Given the description of an element on the screen output the (x, y) to click on. 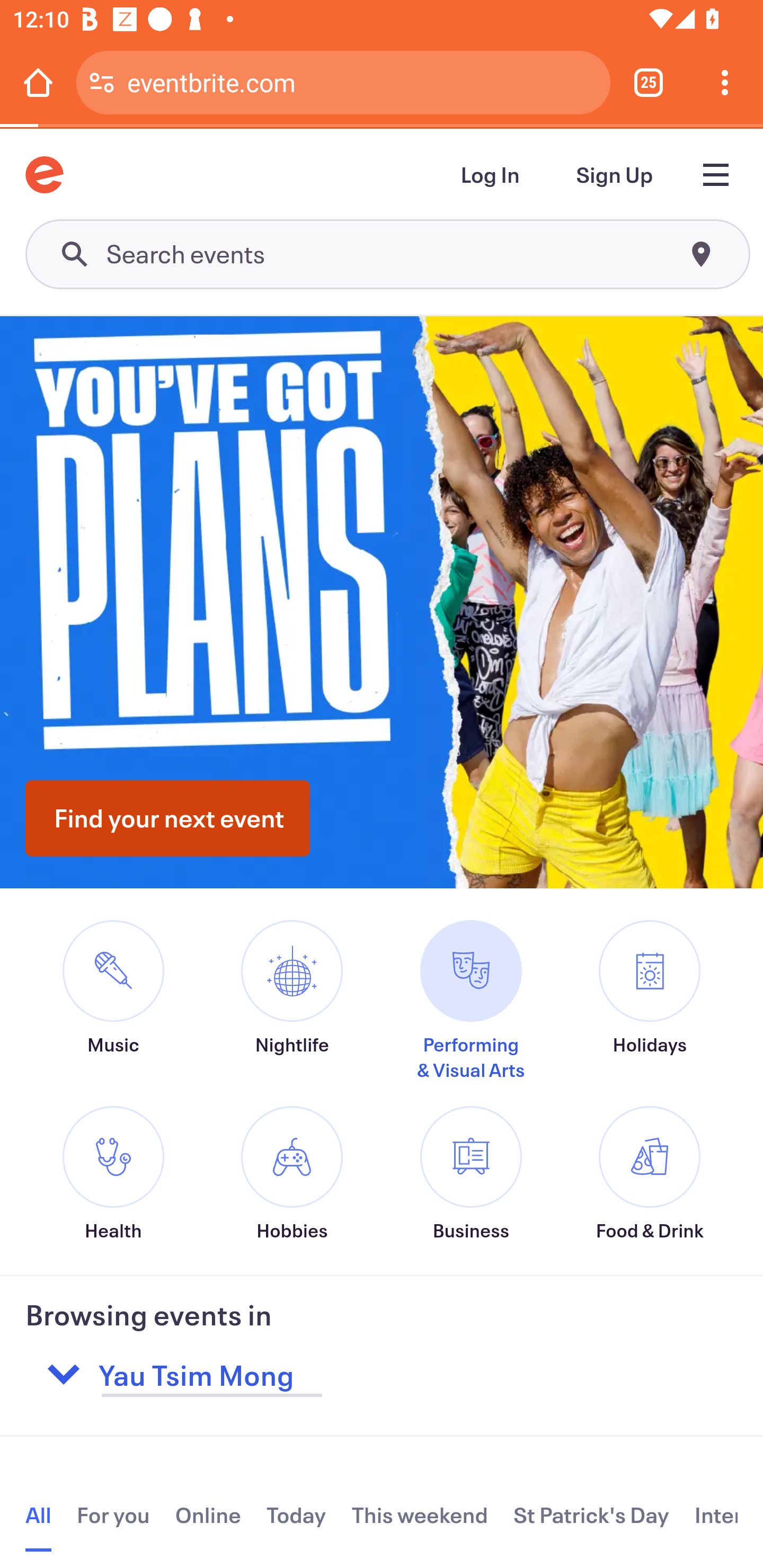
Open the home page (38, 82)
Connection is secure (101, 82)
Switch or close tabs (648, 82)
Customize and control Google Chrome (724, 82)
eventbrite.com (362, 82)
Log In (490, 174)
Sign Up (614, 174)
Home Eventbrite (44, 174)
Search (387, 253)
Find your next event (167, 818)
Music (113, 1012)
Nightlife (291, 1012)
Performing & Visual Arts (470, 1000)
Holidays (649, 1012)
Health (113, 1174)
Hobbies (291, 1174)
Business (470, 1174)
Food & Drink (649, 1174)
Yau Tsim Mong (298, 1373)
For you (113, 1515)
Online (207, 1515)
Today (296, 1515)
This weekend (419, 1515)
St Patrick's Day (591, 1515)
